Given the description of an element on the screen output the (x, y) to click on. 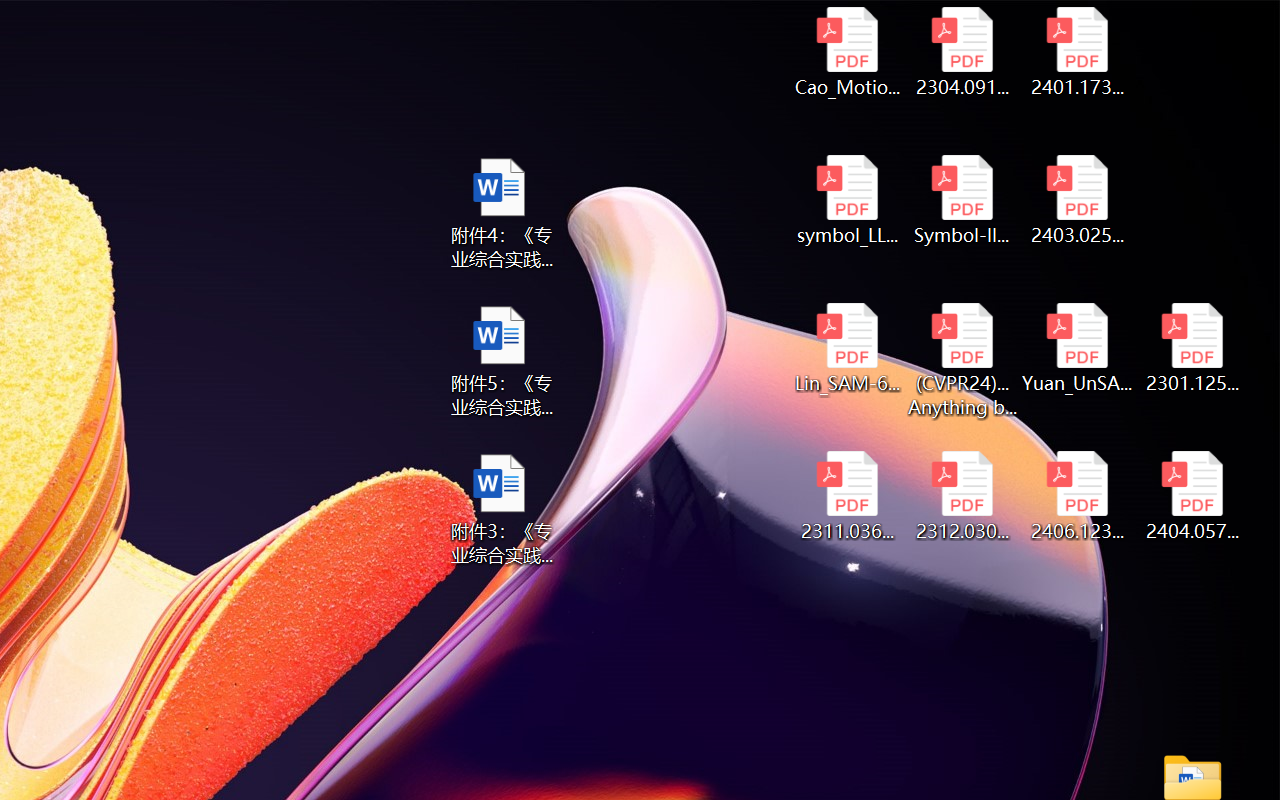
2403.02502v1.pdf (1077, 200)
2406.12373v2.pdf (1077, 496)
